Given the description of an element on the screen output the (x, y) to click on. 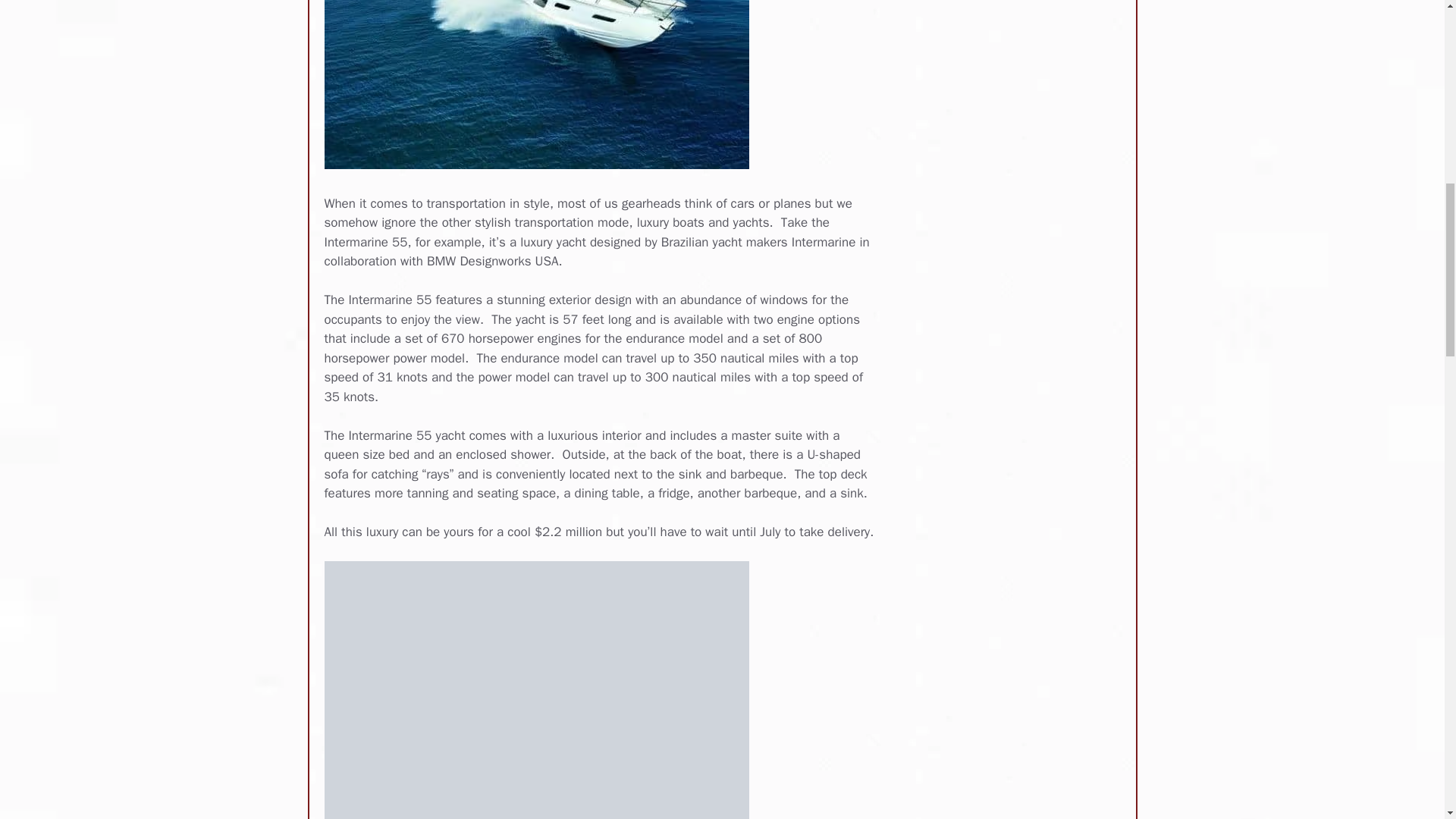
Intermarine-55-BMW-Designworks-USA-1 (536, 84)
Scroll back to top (1406, 720)
Intermarine-55-BMW-Designworks-USA-2 (536, 690)
